Given the description of an element on the screen output the (x, y) to click on. 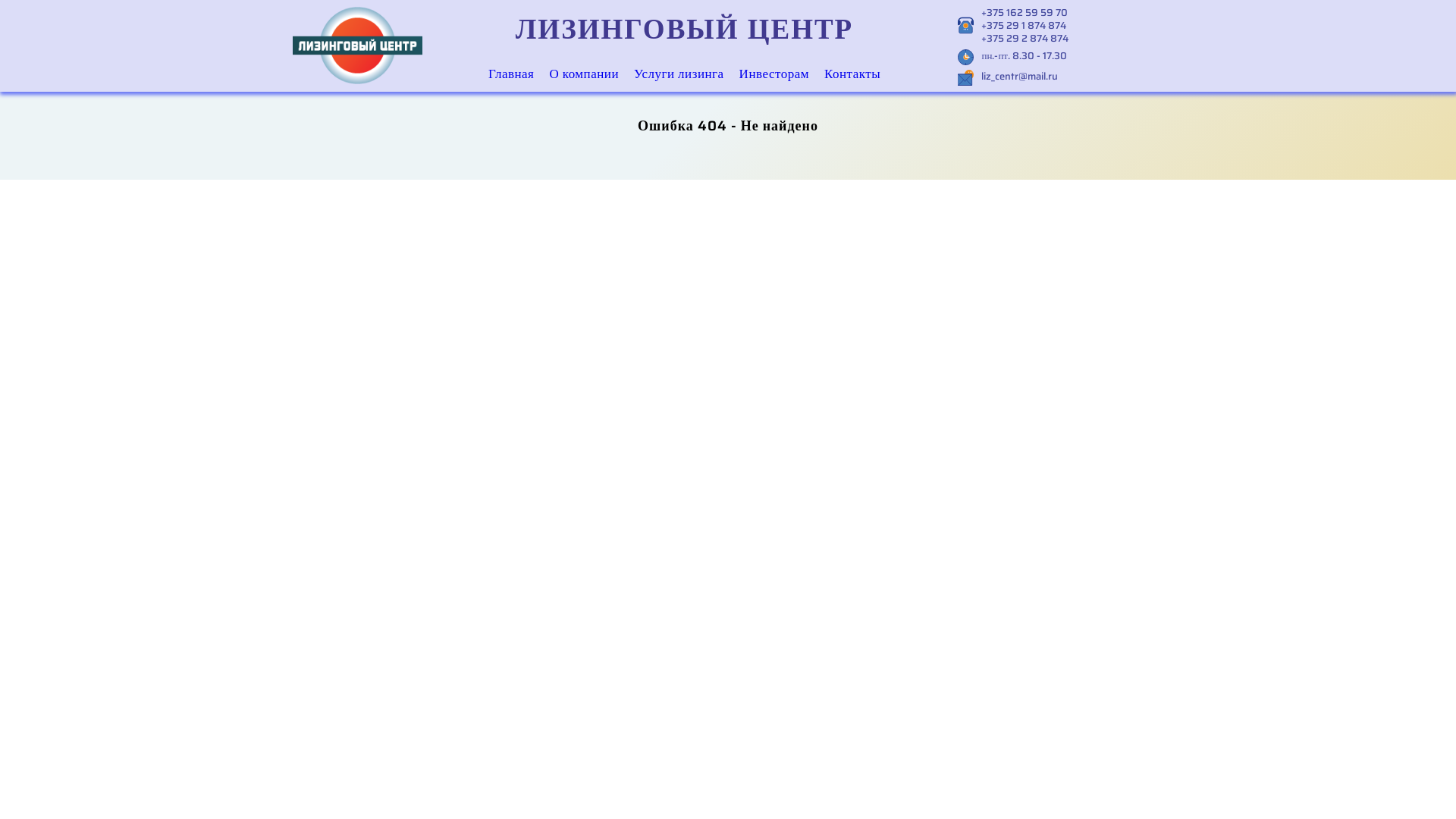
+375 29 1 874 874 Element type: text (1024, 24)
+375 29 2 874 874 Element type: text (1024, 37)
+375 162 59 59 70 Element type: text (1024, 12)
liz_centr@mail.ru Element type: text (1019, 75)
